Given the description of an element on the screen output the (x, y) to click on. 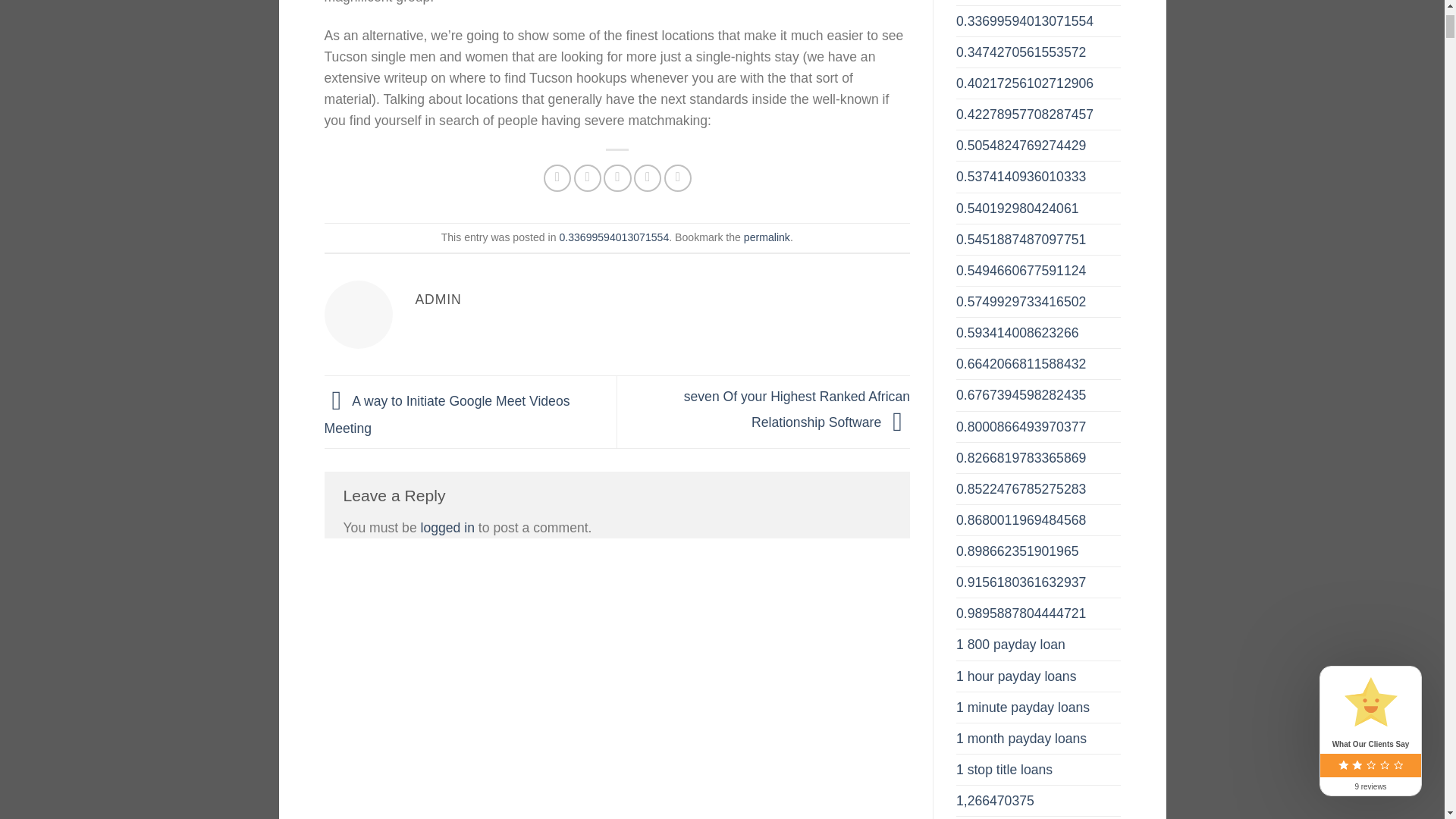
Email to a Friend (617, 177)
logged in (447, 527)
Share on Facebook (556, 177)
Pin on Pinterest (647, 177)
A way to Initiate Google Meet Videos Meeting (447, 413)
Share on Twitter (587, 177)
Share on LinkedIn (677, 177)
0.33699594013071554 (613, 236)
permalink (767, 236)
